Given the description of an element on the screen output the (x, y) to click on. 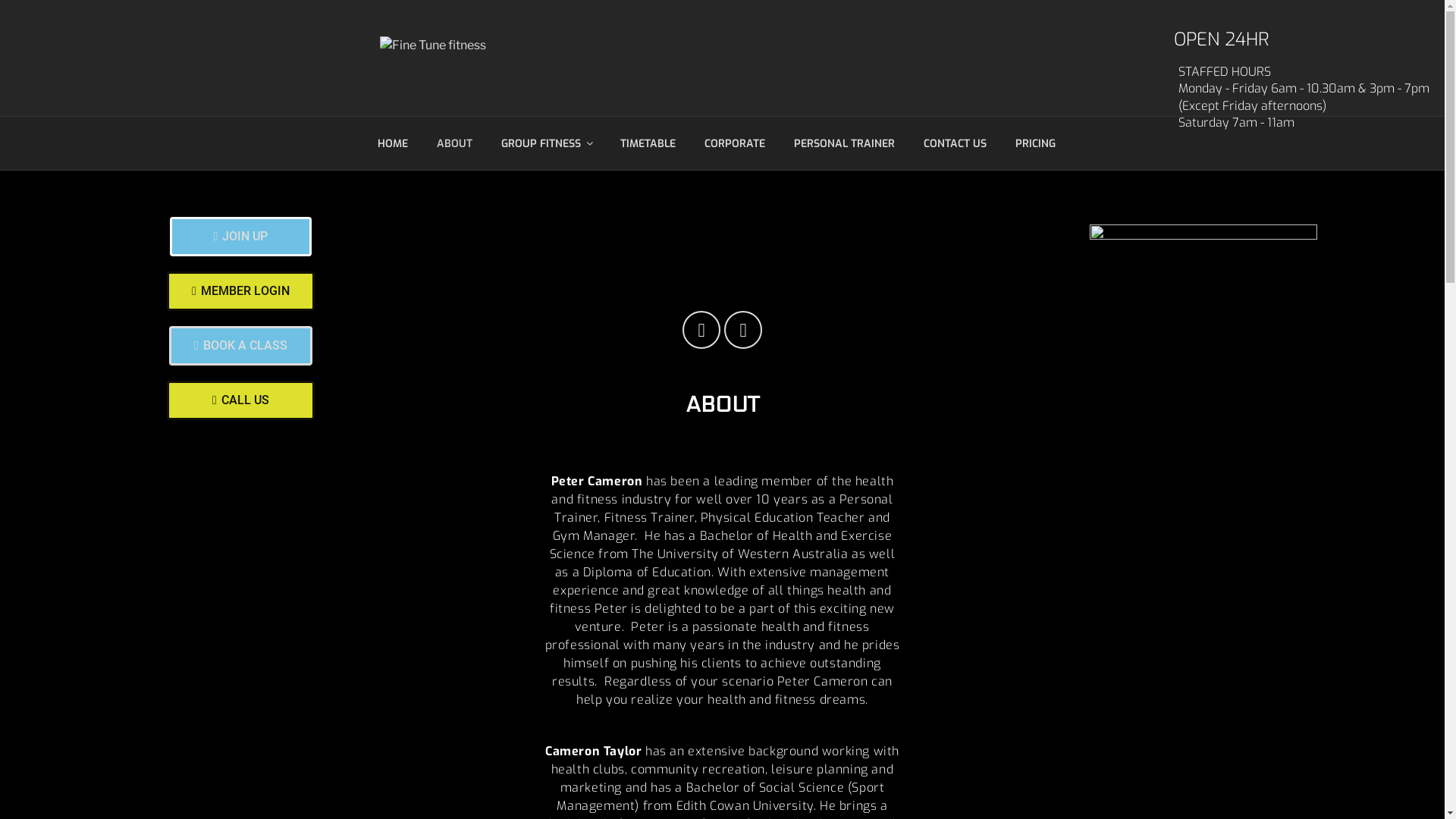
PERSONAL TRAINER Element type: text (844, 143)
HOME Element type: text (392, 143)
CONTACT US Element type: text (954, 143)
CORPORATE Element type: text (734, 143)
JOIN UP Element type: text (240, 236)
MEMBER LOGIN Element type: text (240, 290)
CALL US Element type: text (240, 400)
FINE TUNE FITNESS Element type: text (534, 95)
GROUP FITNESS Element type: text (546, 143)
BOOK A CLASS Element type: text (240, 345)
ABOUT Element type: text (454, 143)
PRICING Element type: text (1035, 143)
TIMETABLE Element type: text (647, 143)
